Given the description of an element on the screen output the (x, y) to click on. 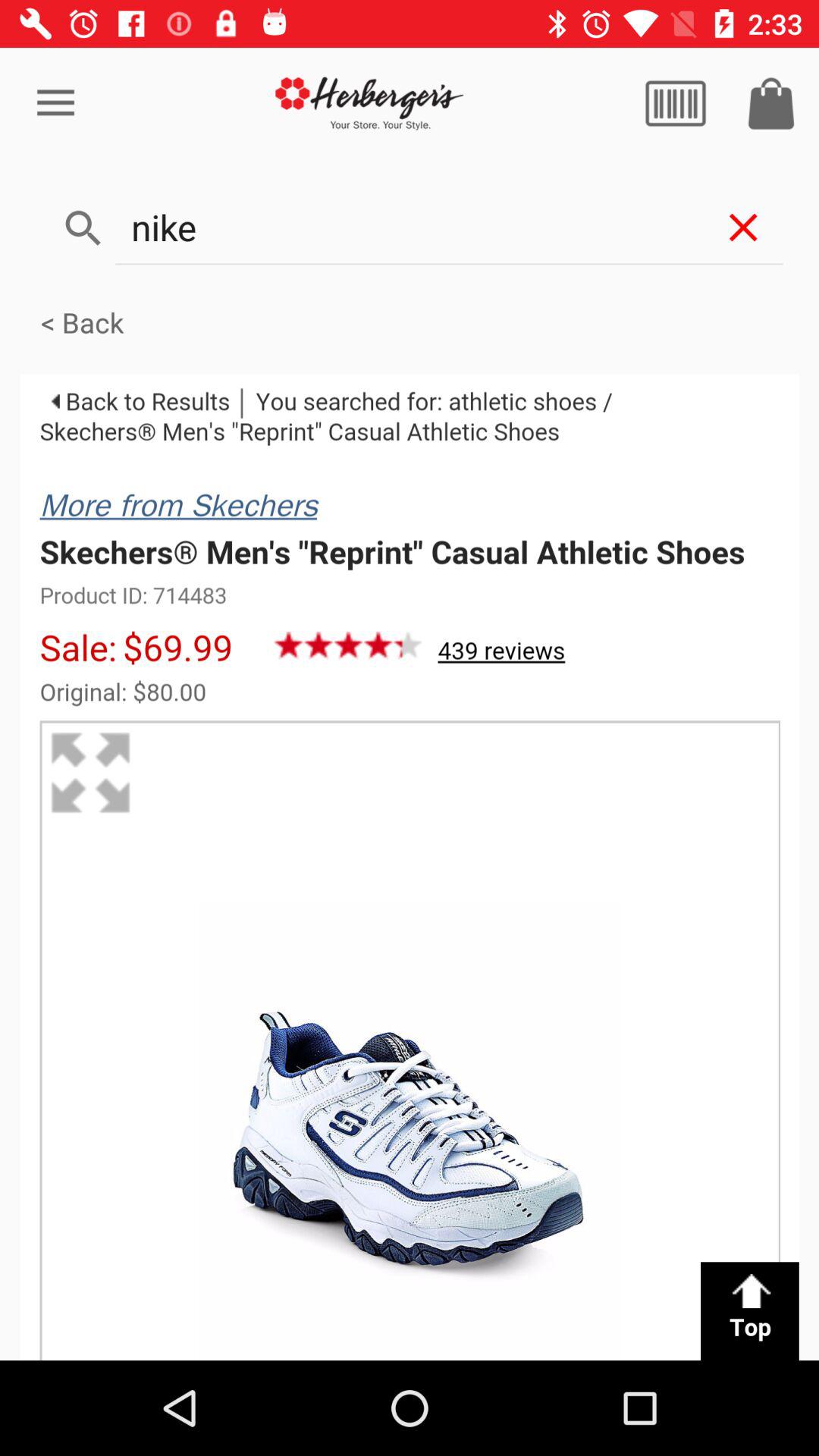
go to horborgers home (369, 103)
